Given the description of an element on the screen output the (x, y) to click on. 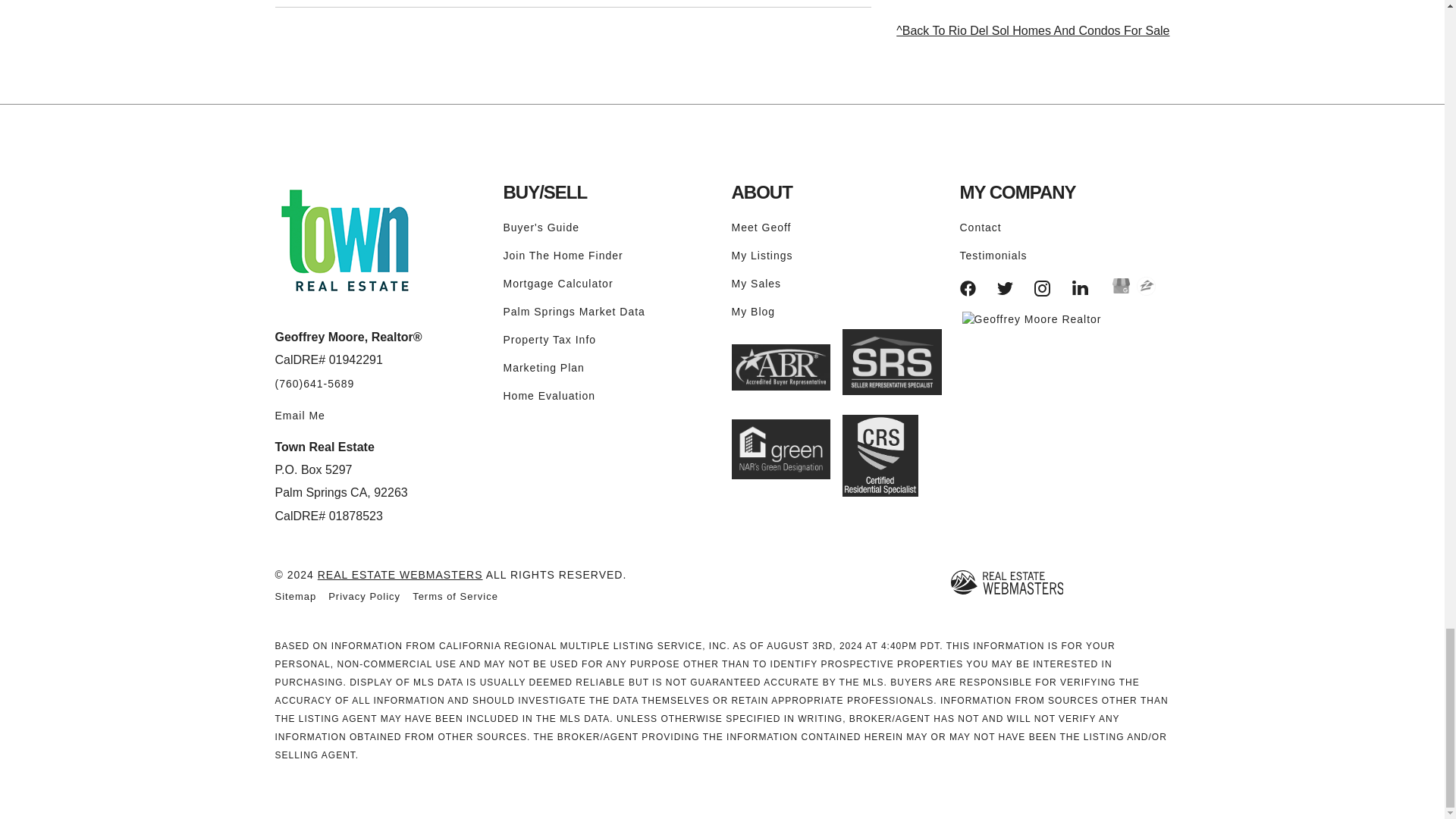
LinkedIn (1079, 288)
Facebook (967, 288)
Twitter (1005, 288)
